Given the description of an element on the screen output the (x, y) to click on. 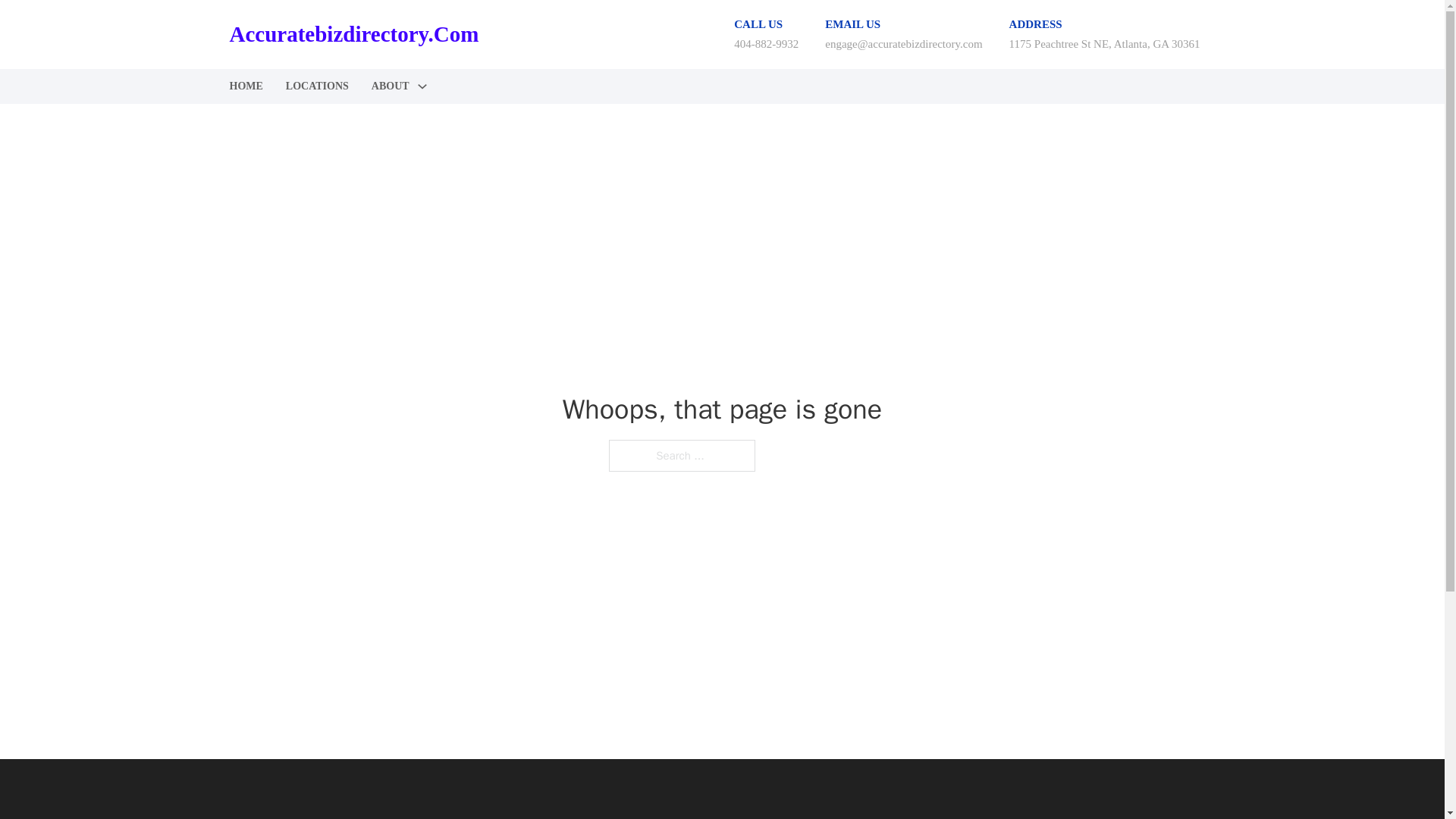
Accuratebizdirectory.Com (353, 34)
LOCATIONS (317, 85)
404-882-9932 (765, 43)
HOME (245, 85)
